Given the description of an element on the screen output the (x, y) to click on. 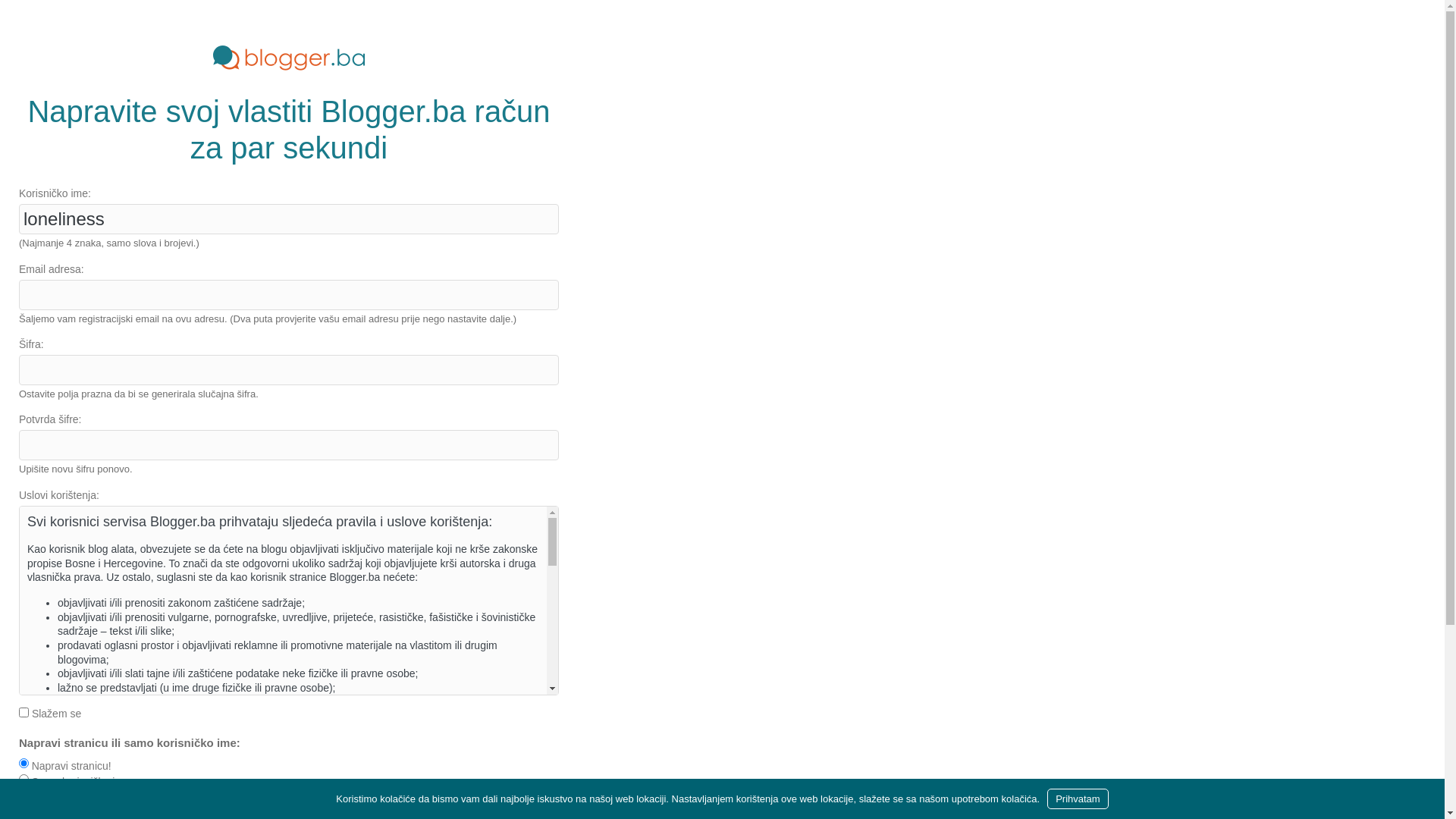
Prihvatam Element type: text (1077, 798)
